Given the description of an element on the screen output the (x, y) to click on. 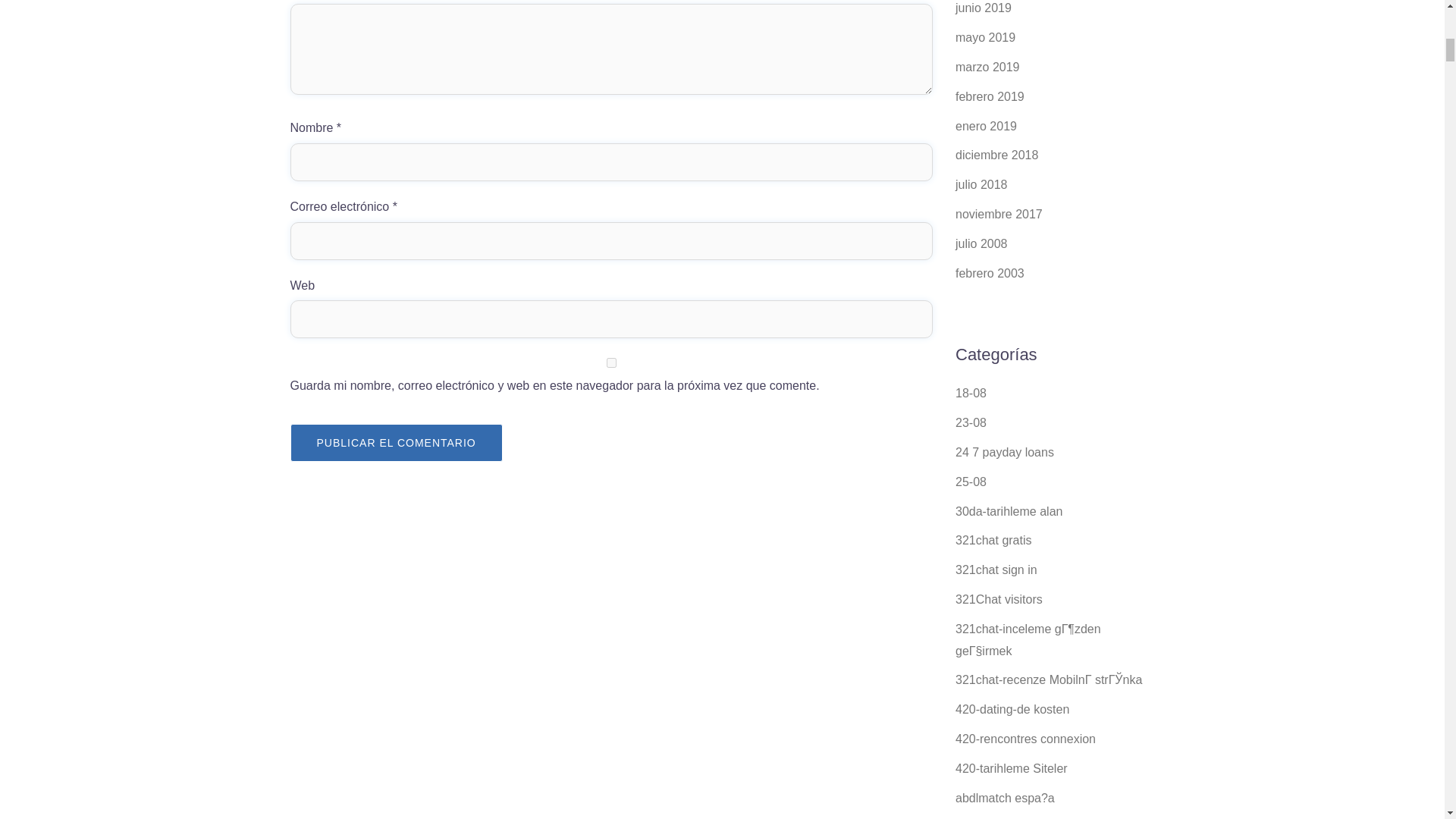
yes (611, 362)
Publicar el comentario (395, 442)
Publicar el comentario (395, 442)
